Given the description of an element on the screen output the (x, y) to click on. 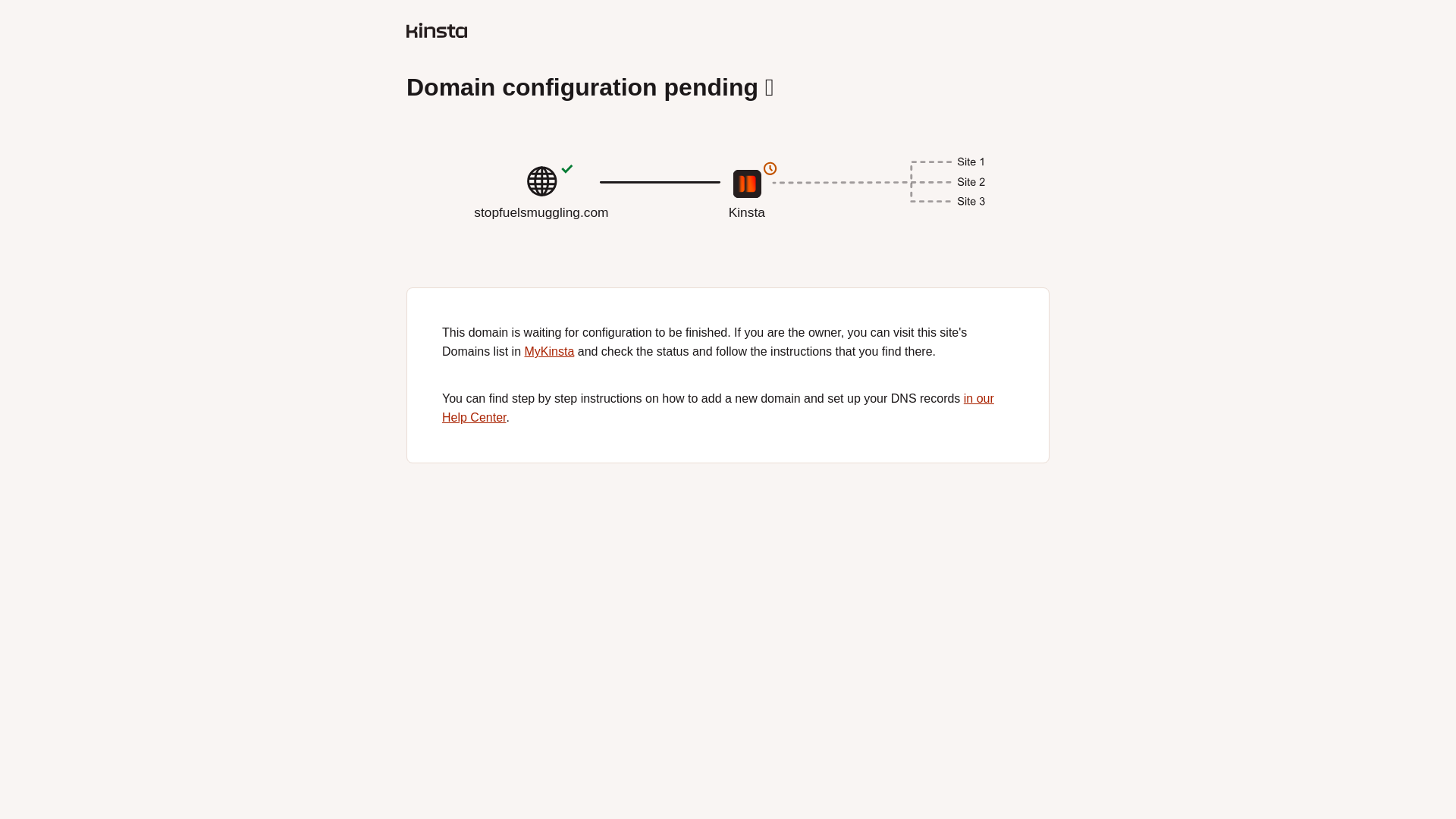
MyKinsta (548, 350)
in our Help Center (718, 408)
